Given the description of an element on the screen output the (x, y) to click on. 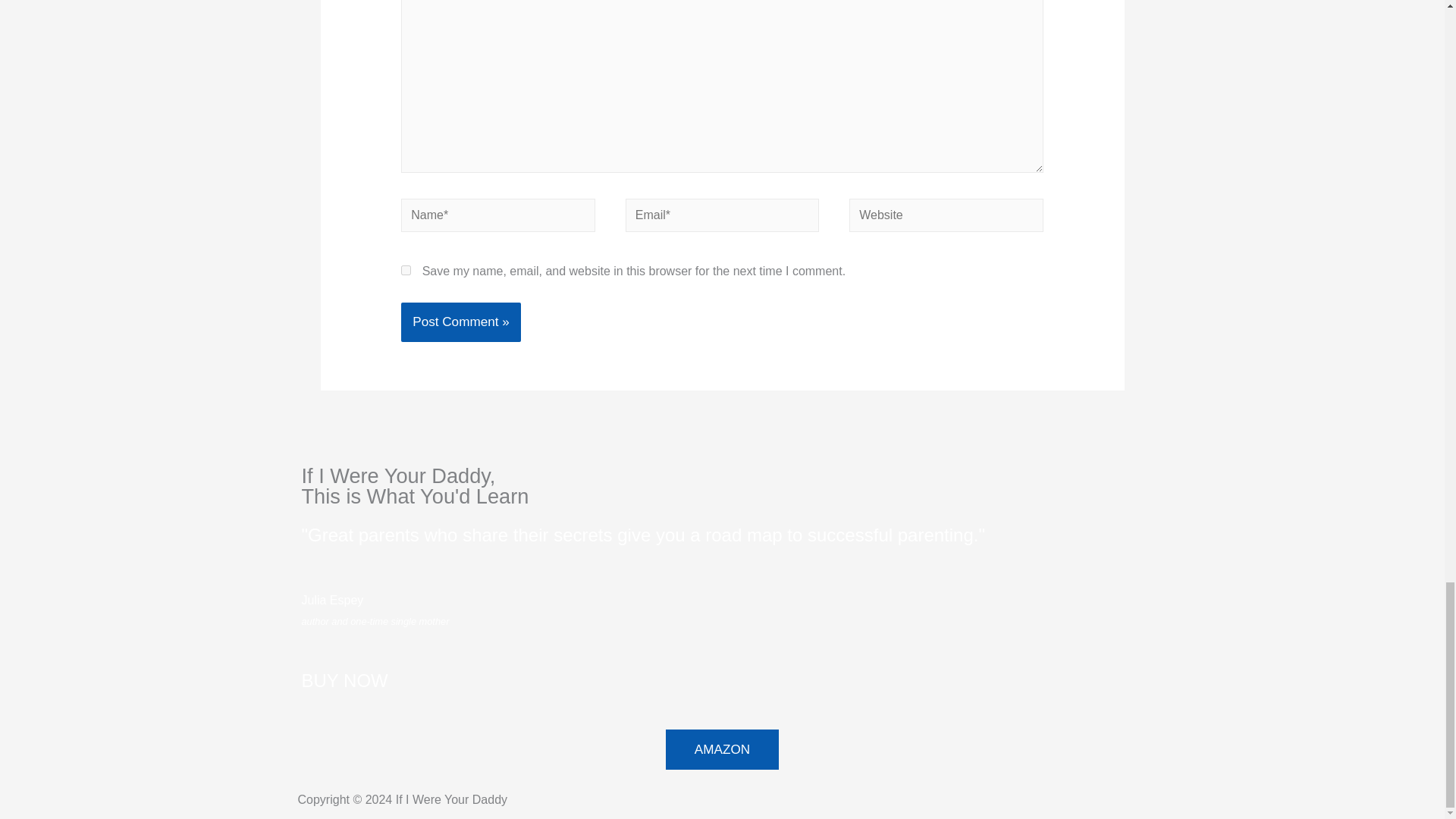
AMAZON (721, 749)
yes (405, 270)
